Given the description of an element on the screen output the (x, y) to click on. 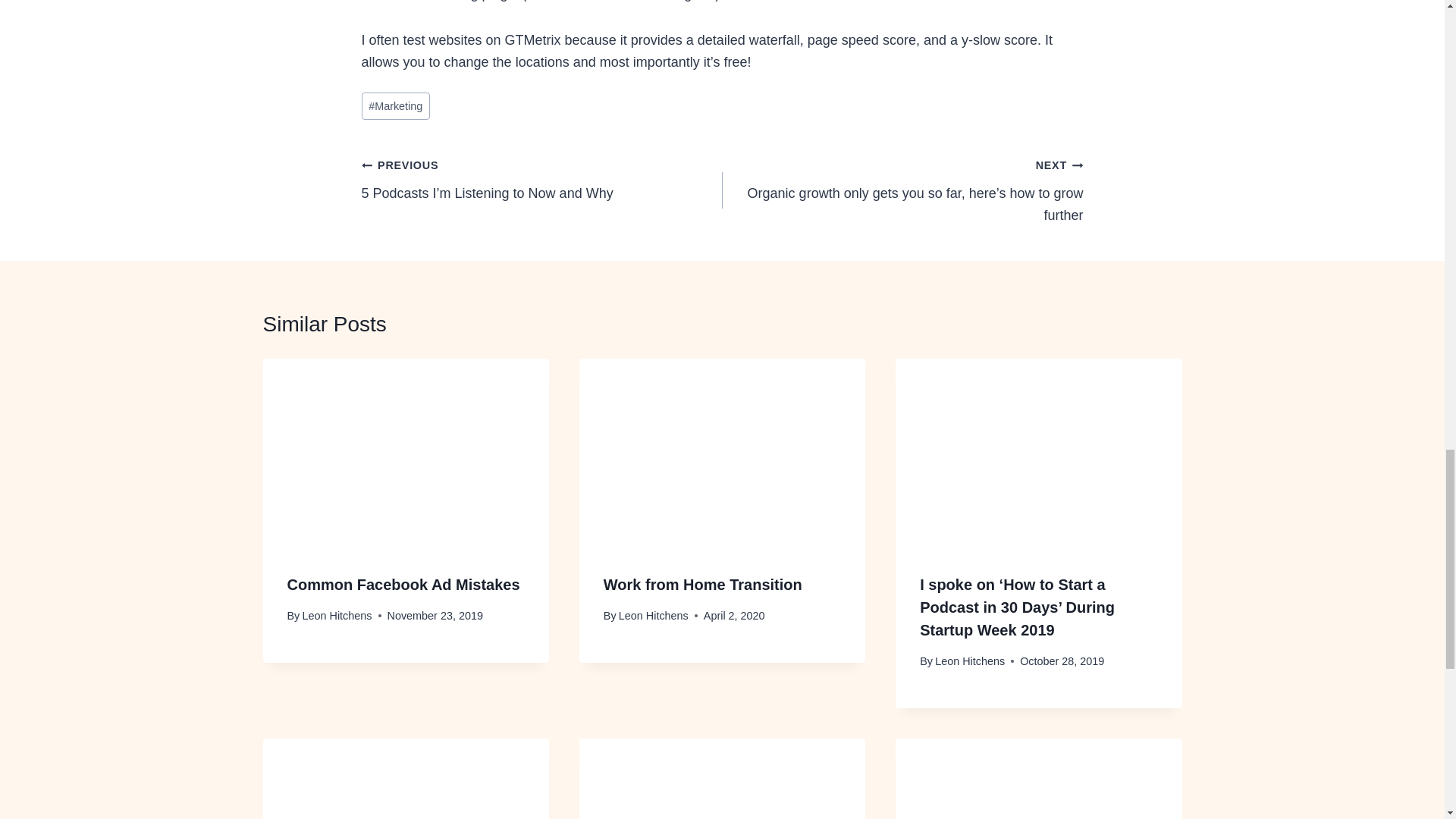
Leon Hitchens (969, 661)
Common Facebook Ad Mistakes (402, 584)
Leon Hitchens (336, 615)
Marketing (395, 106)
Leon Hitchens (653, 615)
Work from Home Transition (703, 584)
